Given the description of an element on the screen output the (x, y) to click on. 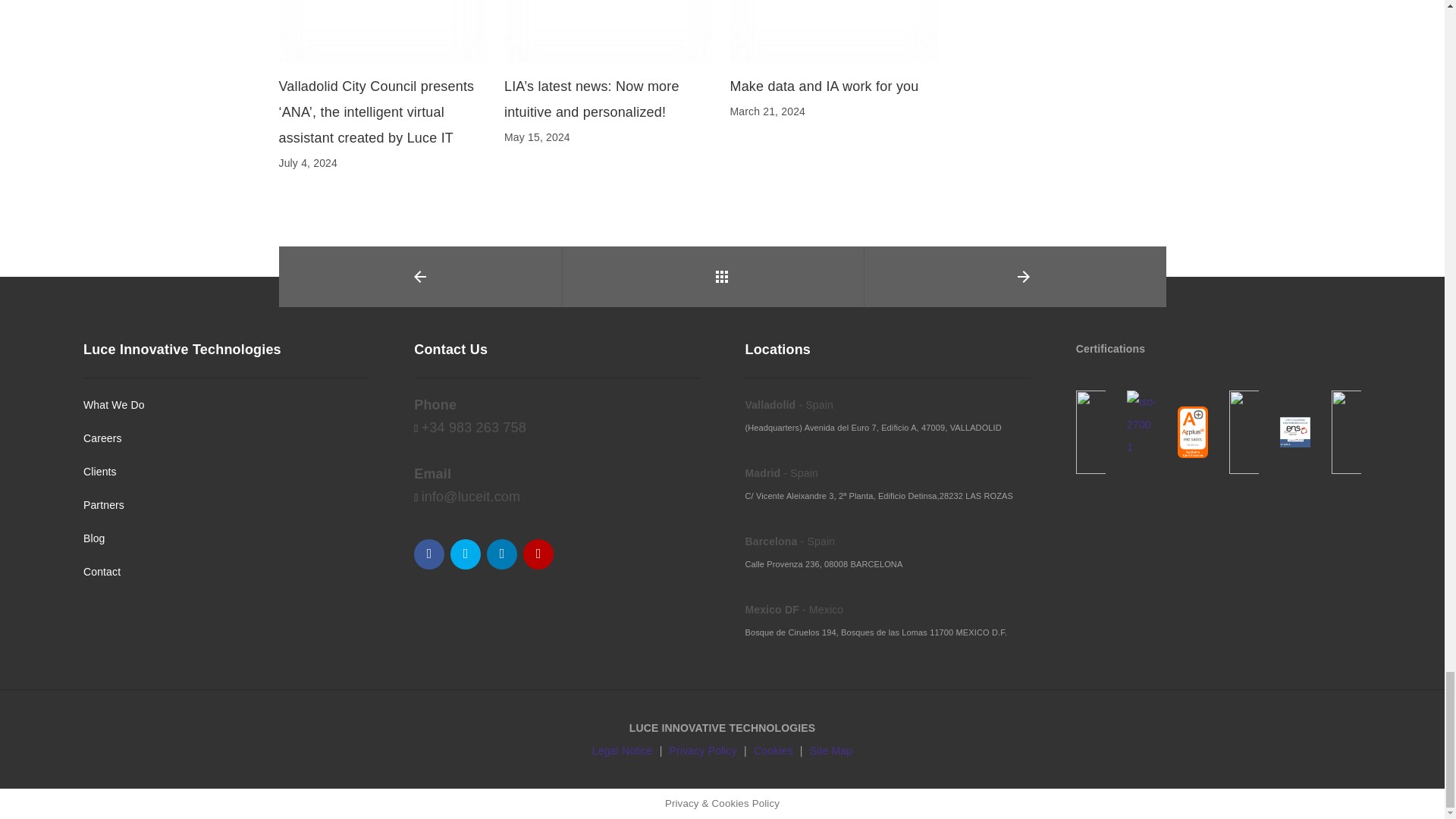
Linkedin (501, 553)
Youtube (537, 553)
Twitter (464, 553)
Facebook (428, 553)
